Given the description of an element on the screen output the (x, y) to click on. 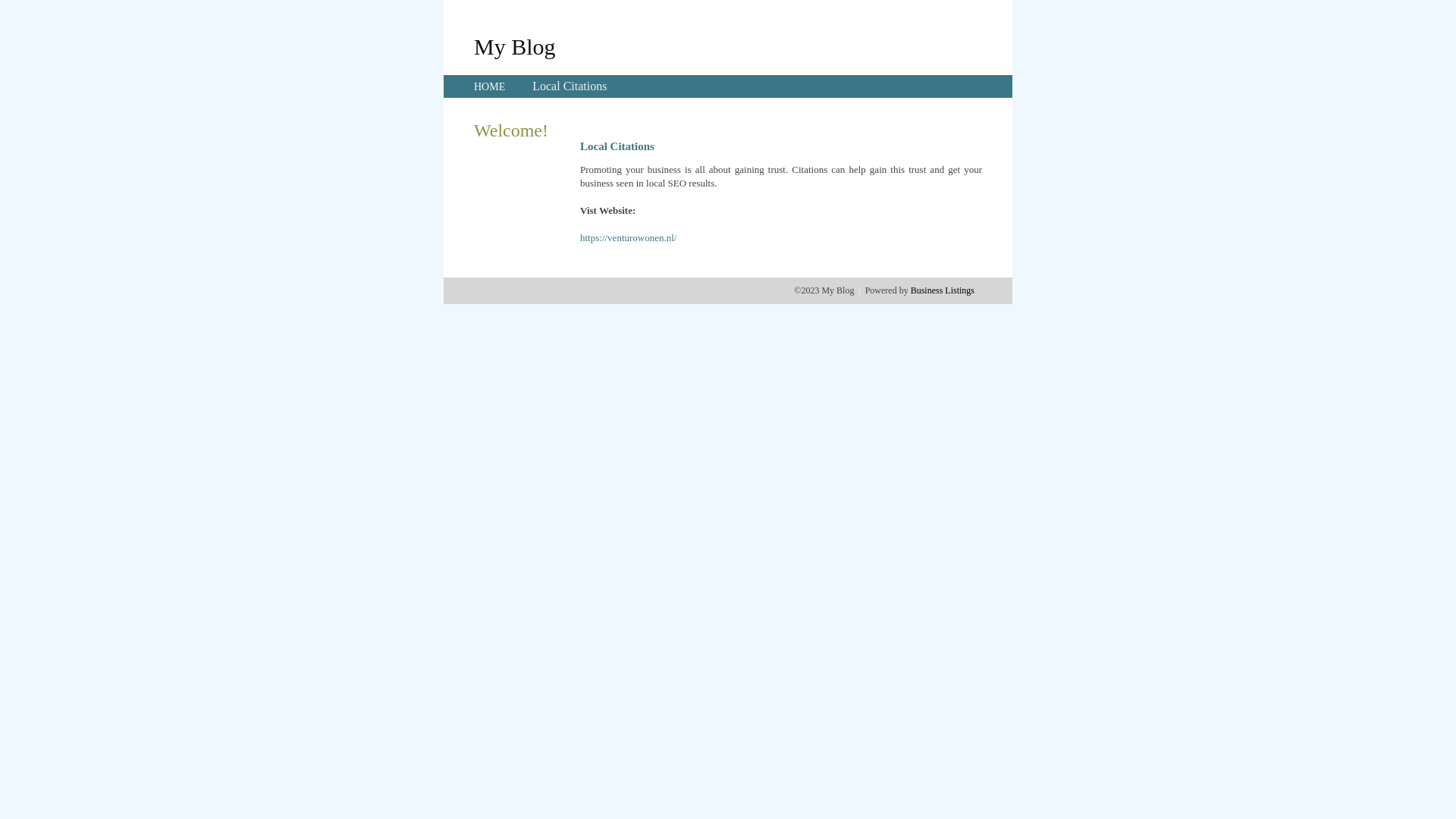
My Blog Element type: text (514, 46)
https://venturowonen.nl/ Element type: text (628, 237)
Local Citations Element type: text (569, 85)
Business Listings Element type: text (942, 290)
HOME Element type: text (489, 86)
